Given the description of an element on the screen output the (x, y) to click on. 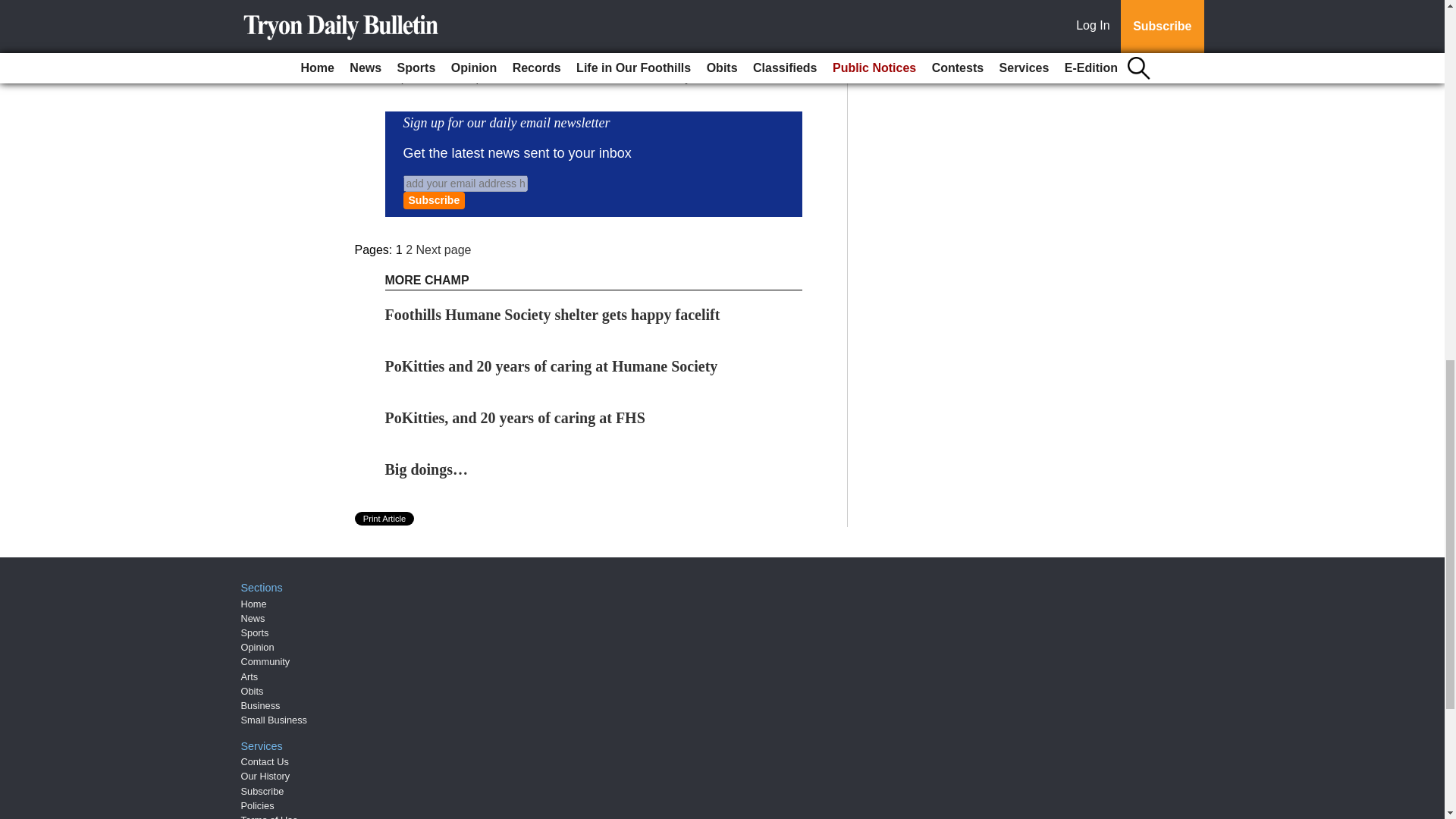
2 (409, 249)
PoKitties and 20 years of caring at Humane Society (551, 365)
Subscribe (434, 200)
Subscribe (434, 200)
PoKitties, and 20 years of caring at FHS (515, 417)
Foothills Humane Society shelter gets happy facelift (552, 314)
